Given the description of an element on the screen output the (x, y) to click on. 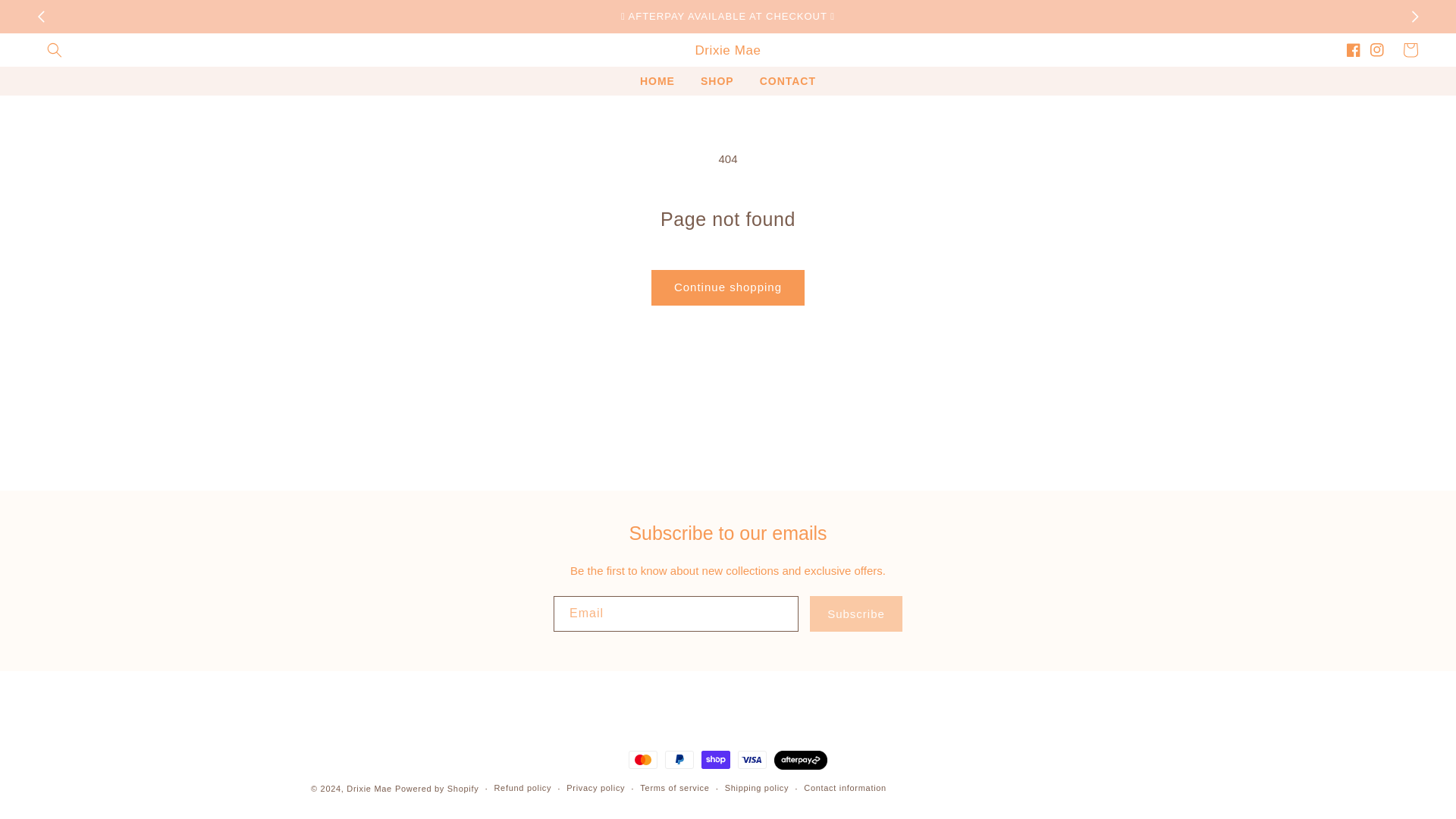
Shipping policy (757, 788)
Continue shopping (727, 287)
Cart (1409, 49)
Terms of service (674, 788)
Subscribe (855, 613)
CONTACT (787, 80)
Privacy policy (595, 788)
Skip to content (45, 17)
HOME (656, 80)
Contact information (844, 788)
Refund policy (522, 788)
Powered by Shopify (436, 788)
Drixie Mae (727, 49)
Drixie Mae (368, 788)
SHOP (716, 80)
